Given the description of an element on the screen output the (x, y) to click on. 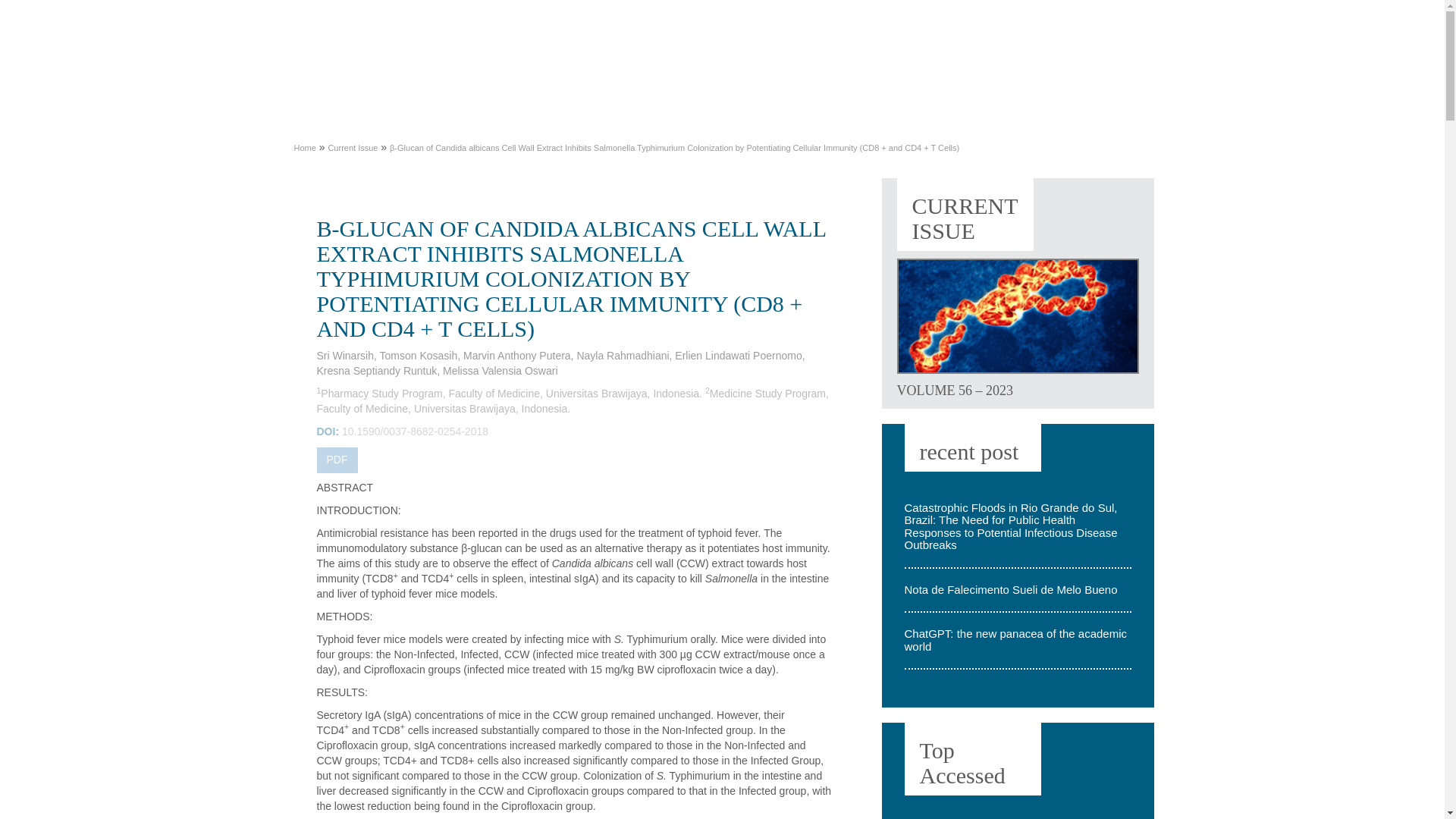
WORFLOW (801, 80)
CONTACT (712, 80)
PDF (336, 459)
CURRENT ISSUE (721, 51)
EVENTS (633, 80)
HOME (627, 51)
PDF (337, 460)
EDITORIAL BOARD (1077, 51)
INSTRUCTIONS (938, 51)
Current Issue (352, 147)
